Given the description of an element on the screen output the (x, y) to click on. 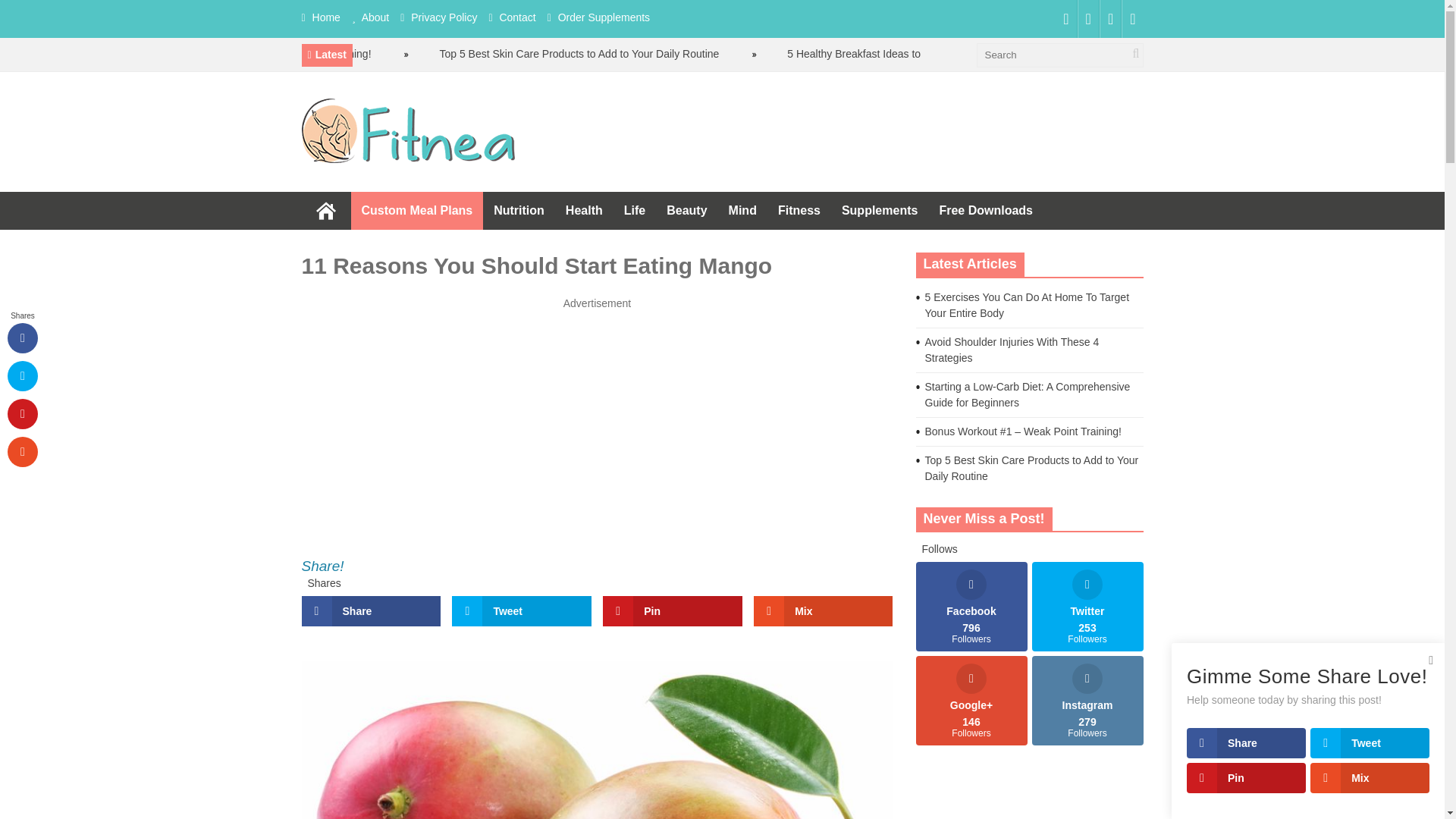
Contact (517, 17)
Beauty (686, 210)
Supplements (879, 210)
Mind (742, 210)
Privacy Policy (443, 17)
Mix (823, 611)
5 Healthy Breakfast Ideas to Help You Power Through Your Day (937, 53)
Home (325, 210)
Custom Meal Plans (416, 210)
Nutrition (518, 210)
Order Supplements (603, 17)
Fitness (799, 210)
Life (634, 210)
Free Downloads (985, 210)
Advertisement (597, 418)
